Given the description of an element on the screen output the (x, y) to click on. 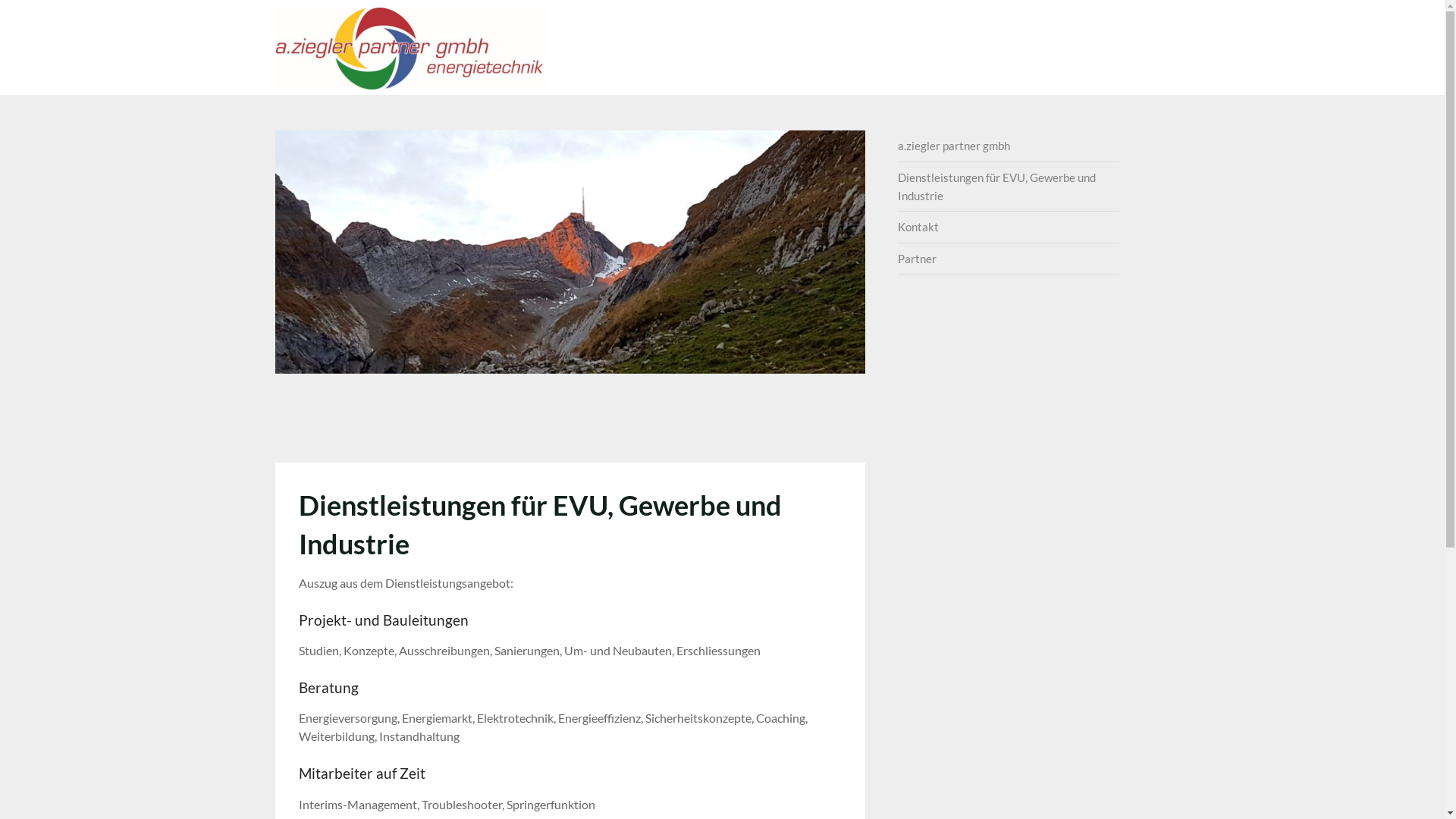
Kontakt Element type: text (917, 226)
a.ziegler partner gmbh Element type: text (682, 24)
Kontakt Element type: text (1070, 24)
a.ziegler partner gmbh Element type: text (953, 145)
Partner Element type: text (916, 258)
Partner Element type: text (1137, 24)
